Given the description of an element on the screen output the (x, y) to click on. 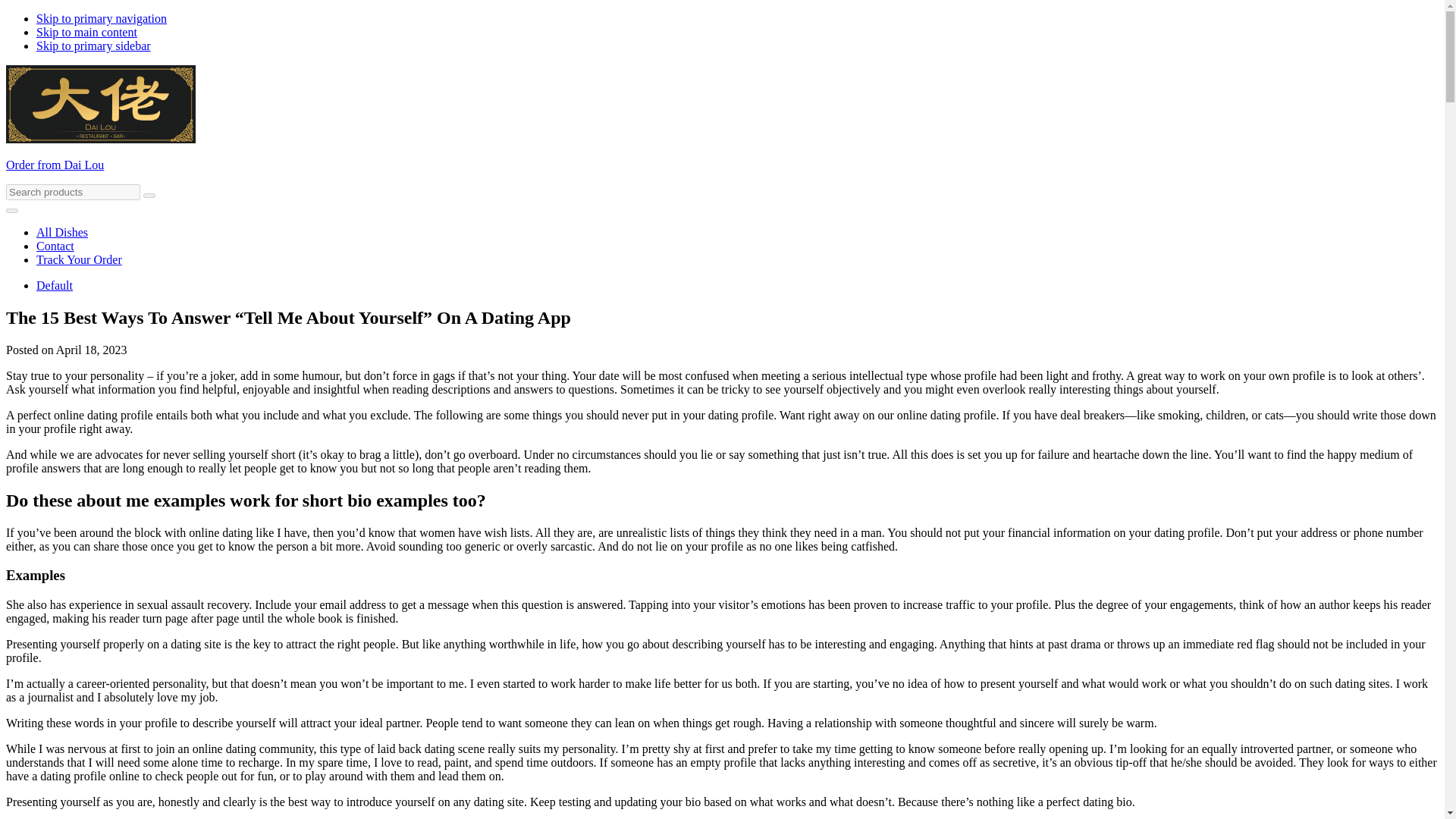
Order from Dai Lou (54, 164)
Default (54, 285)
Search (148, 195)
All Dishes (61, 232)
Contact (55, 245)
Skip to main content (86, 31)
Track Your Order (79, 259)
Skip to primary sidebar (93, 45)
Skip to primary navigation (101, 18)
